Given the description of an element on the screen output the (x, y) to click on. 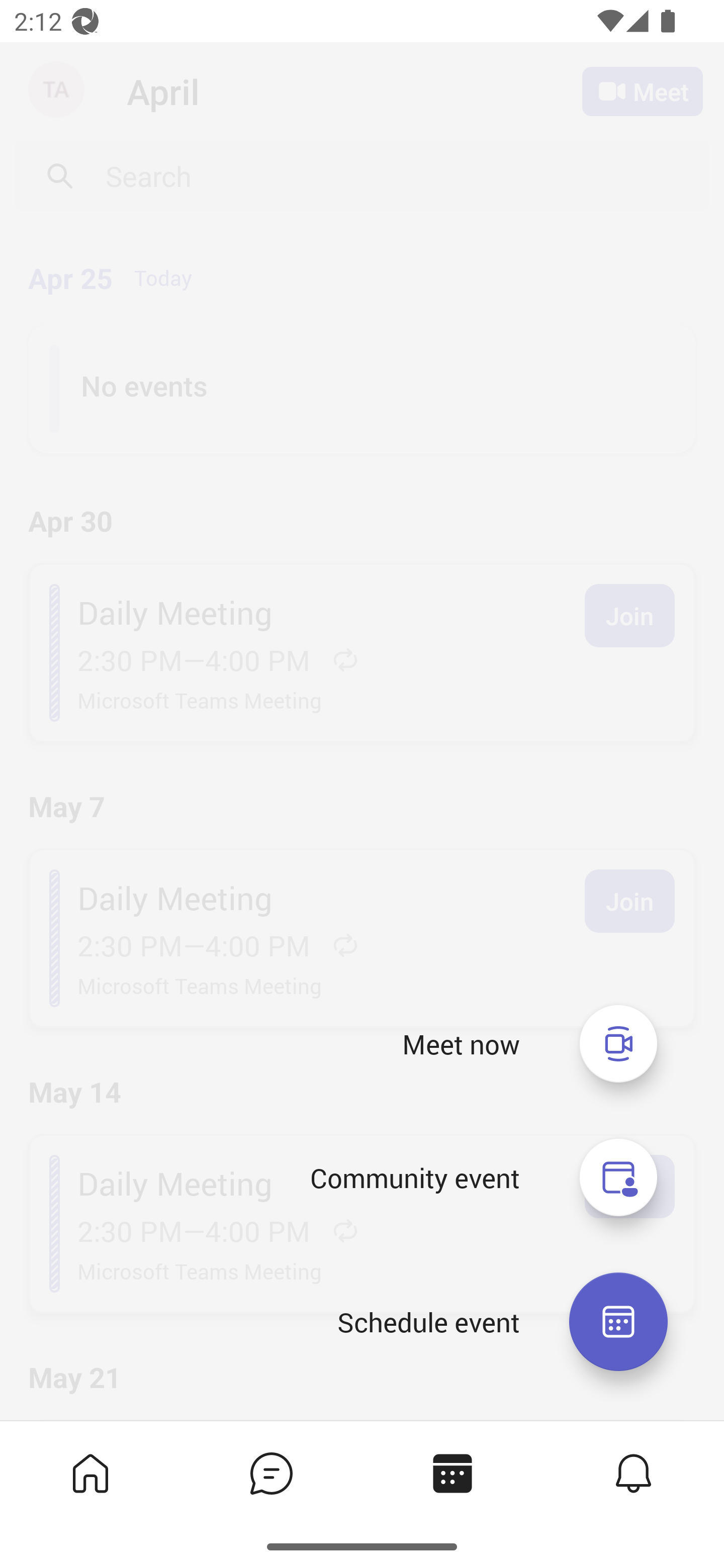
Meet now (618, 1043)
Meet now (461, 1044)
Community event (618, 1177)
Community event (414, 1177)
Schedule event (618, 1321)
Schedule event (428, 1321)
Home tab,1 of 4, not selected (90, 1472)
Chat tab,2 of 4, not selected (271, 1472)
Calendar tab, 3 of 4 (452, 1472)
Activity tab,4 of 4, not selected (633, 1472)
